Given the description of an element on the screen output the (x, y) to click on. 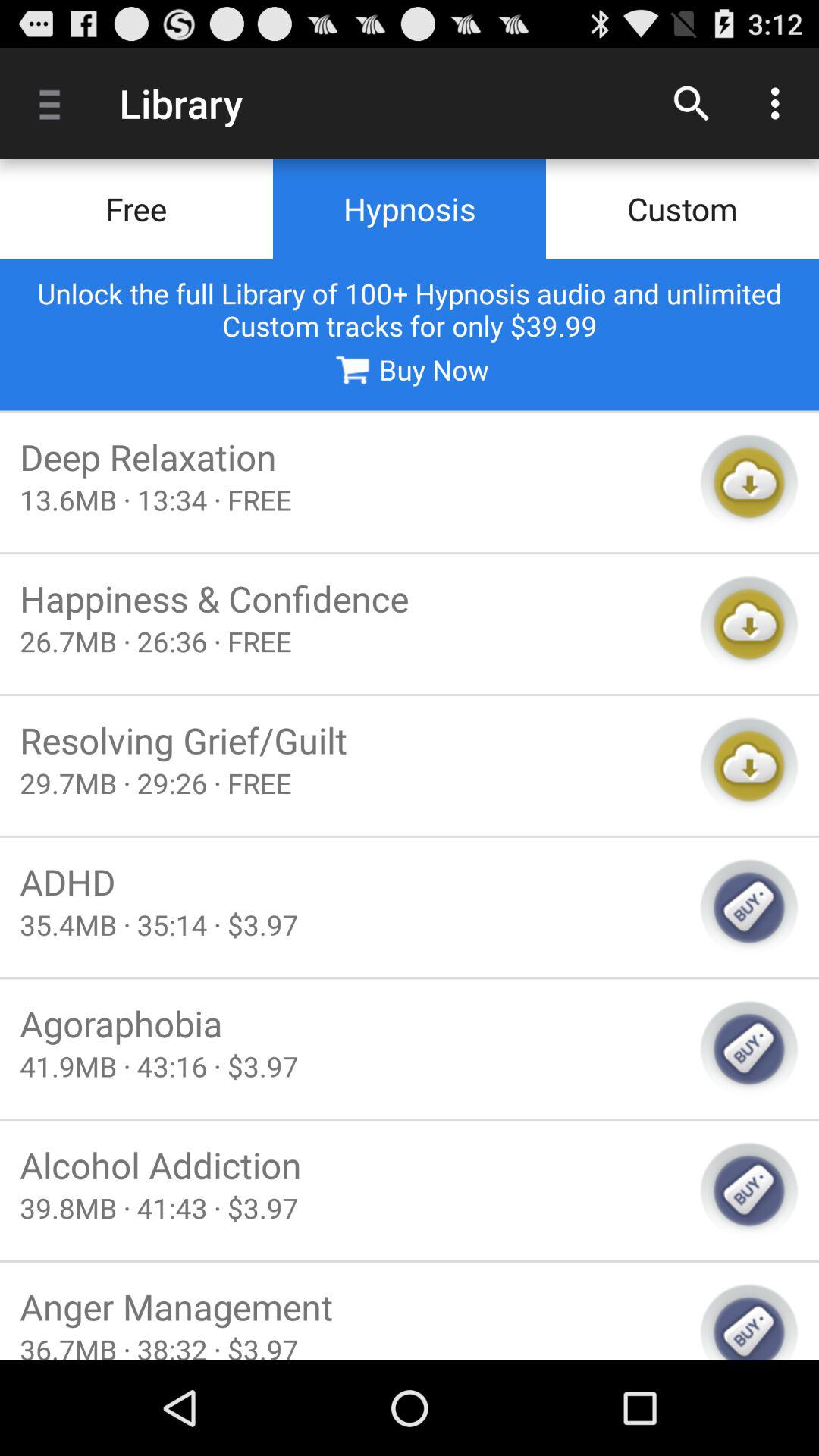
open the item above free icon (55, 103)
